Given the description of an element on the screen output the (x, y) to click on. 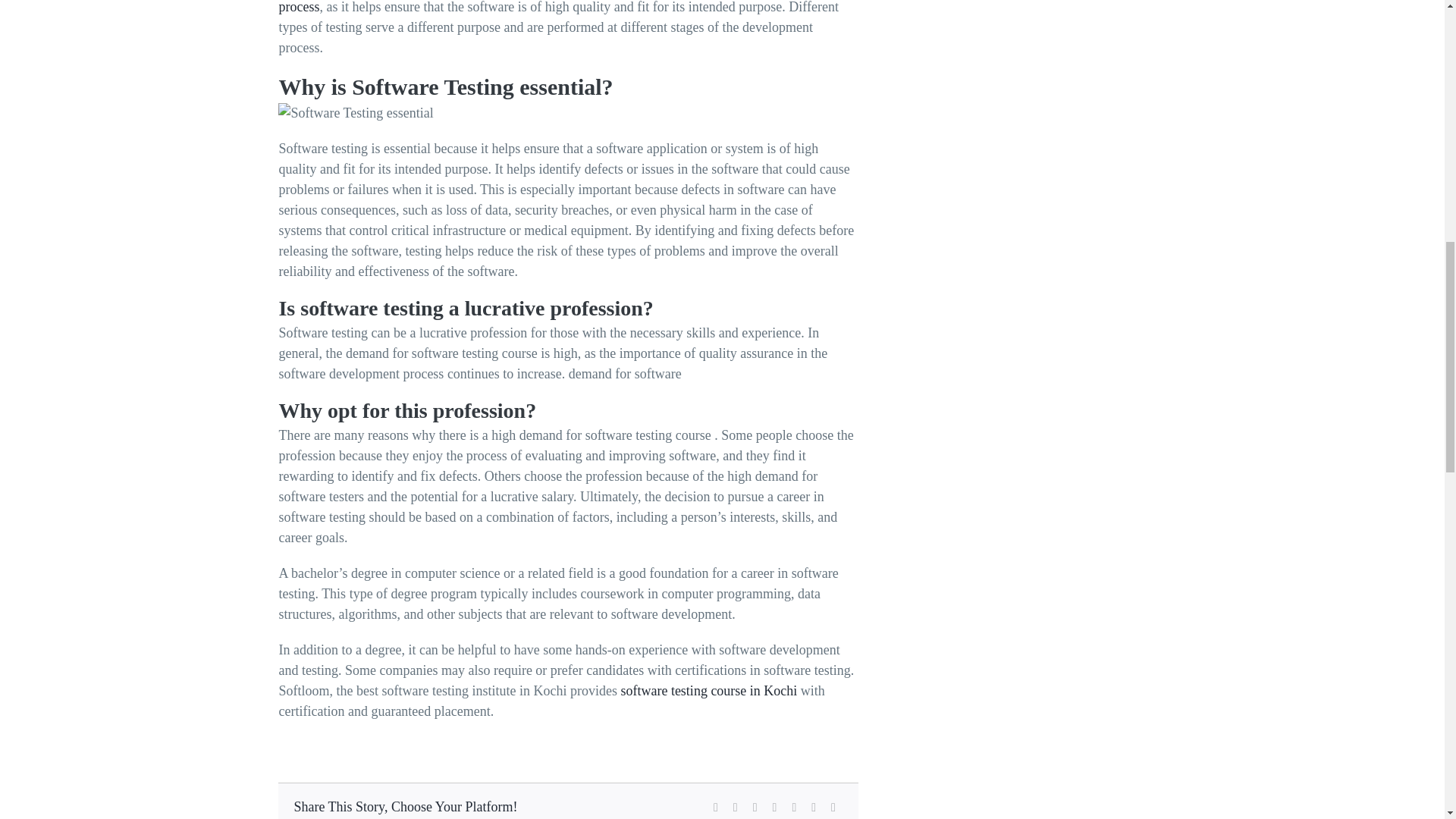
LinkedIn (774, 807)
Reddit (755, 807)
WhatsApp (793, 807)
Facebook (715, 807)
Tumblr (813, 807)
Twitter (735, 807)
